Given the description of an element on the screen output the (x, y) to click on. 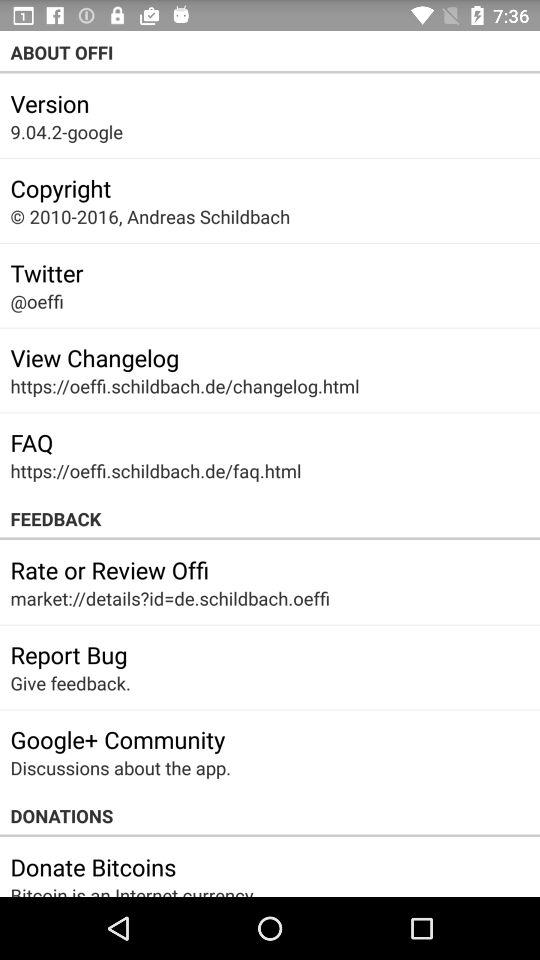
scroll until view changelog item (94, 357)
